Given the description of an element on the screen output the (x, y) to click on. 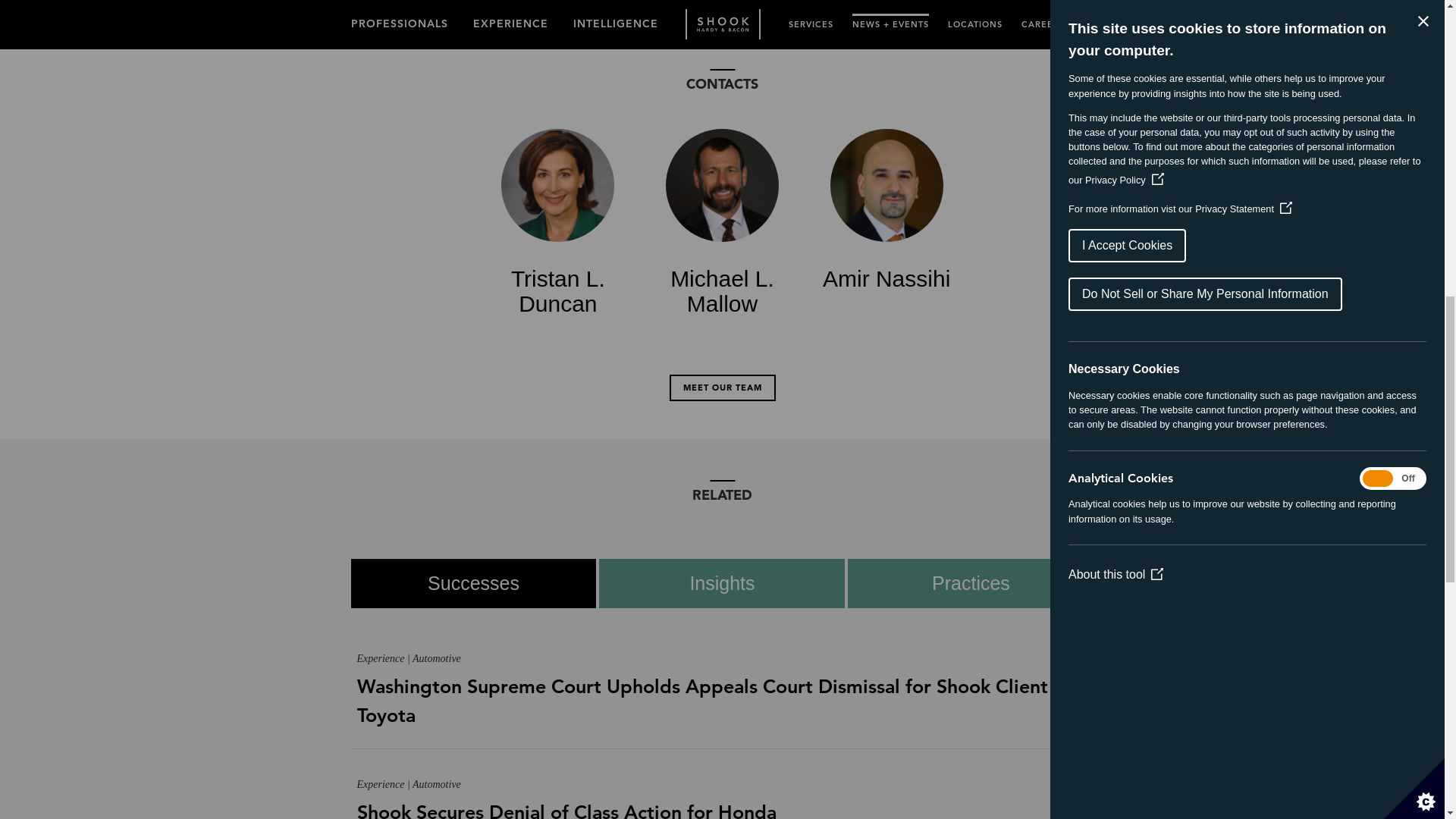
Practices (968, 583)
Shook Secures Denial of Class Action for Honda (721, 808)
Successes (471, 583)
MEET OUR TEAM (721, 387)
Insights (719, 583)
